Given the description of an element on the screen output the (x, y) to click on. 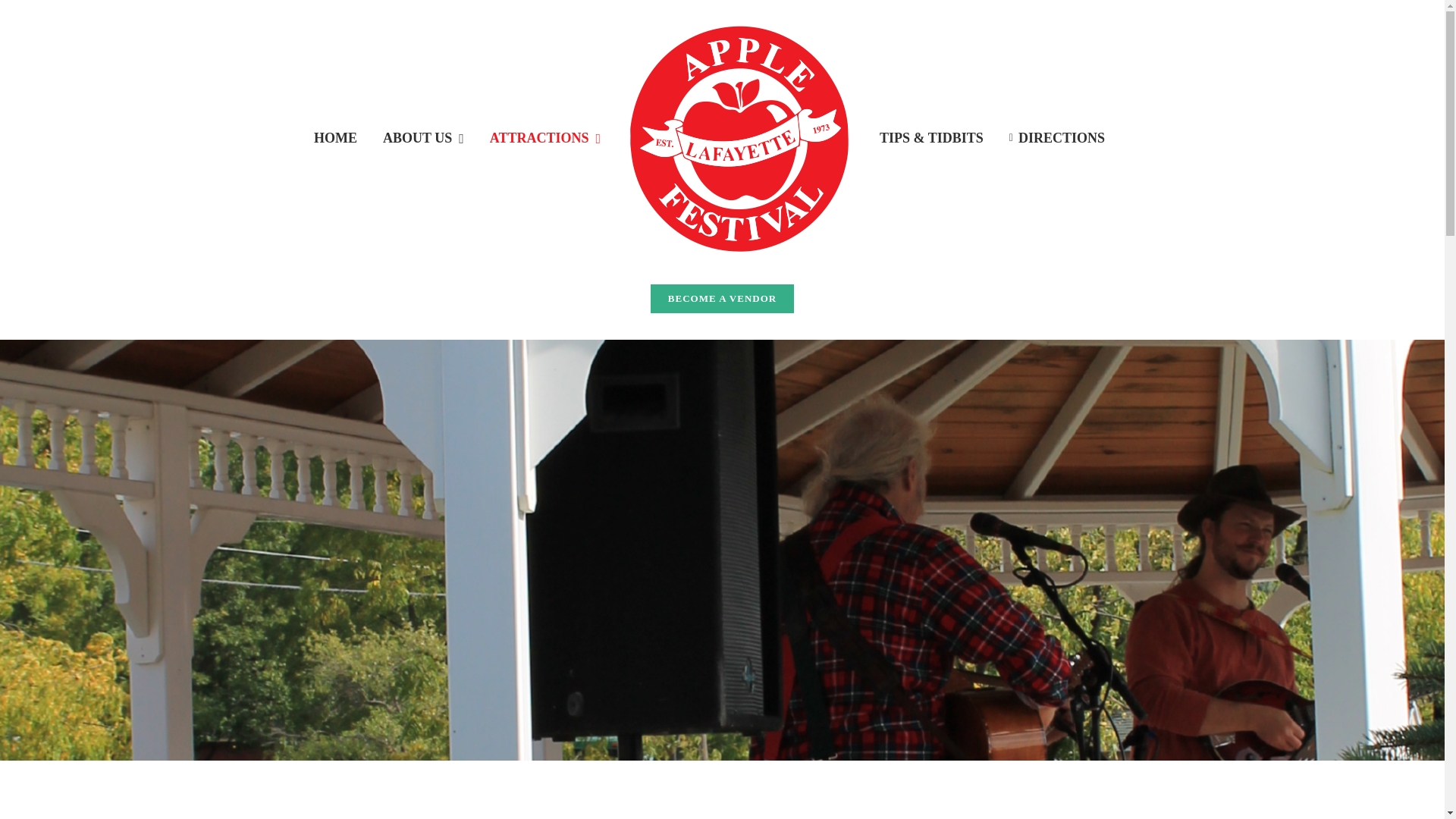
HOME (335, 137)
ABOUT US (423, 137)
ATTRACTIONS (544, 137)
DIRECTIONS (1057, 137)
BECOME A VENDOR (721, 298)
